Given the description of an element on the screen output the (x, y) to click on. 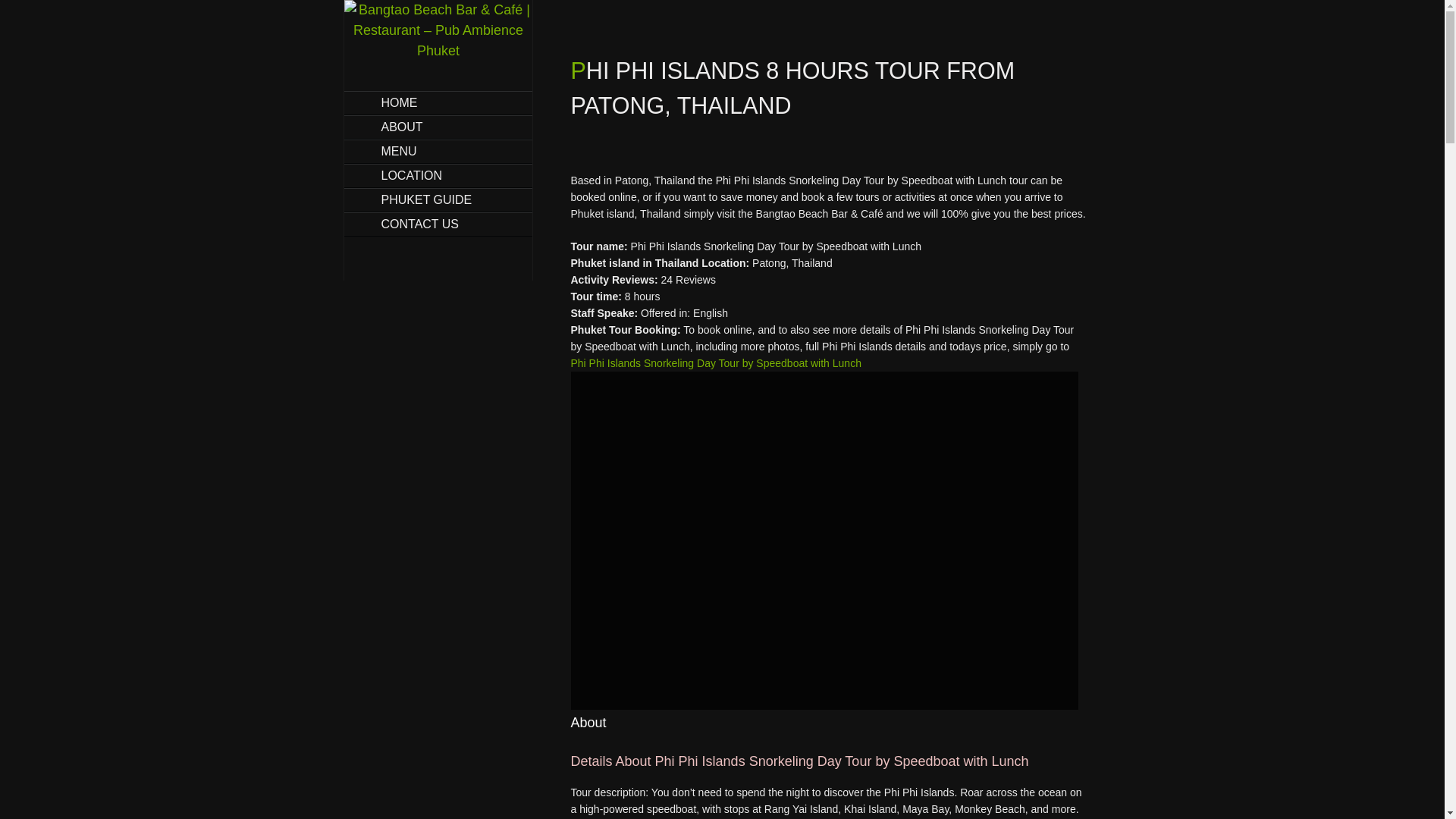
MENU (437, 151)
HOME (437, 102)
ABOUT (437, 127)
LOCATION (437, 175)
Phi Phi Islands Snorkeling Day Tour by Speedboat with Lunch (715, 363)
PHUKET GUIDE (437, 200)
CONTACT US (437, 223)
